Given the description of an element on the screen output the (x, y) to click on. 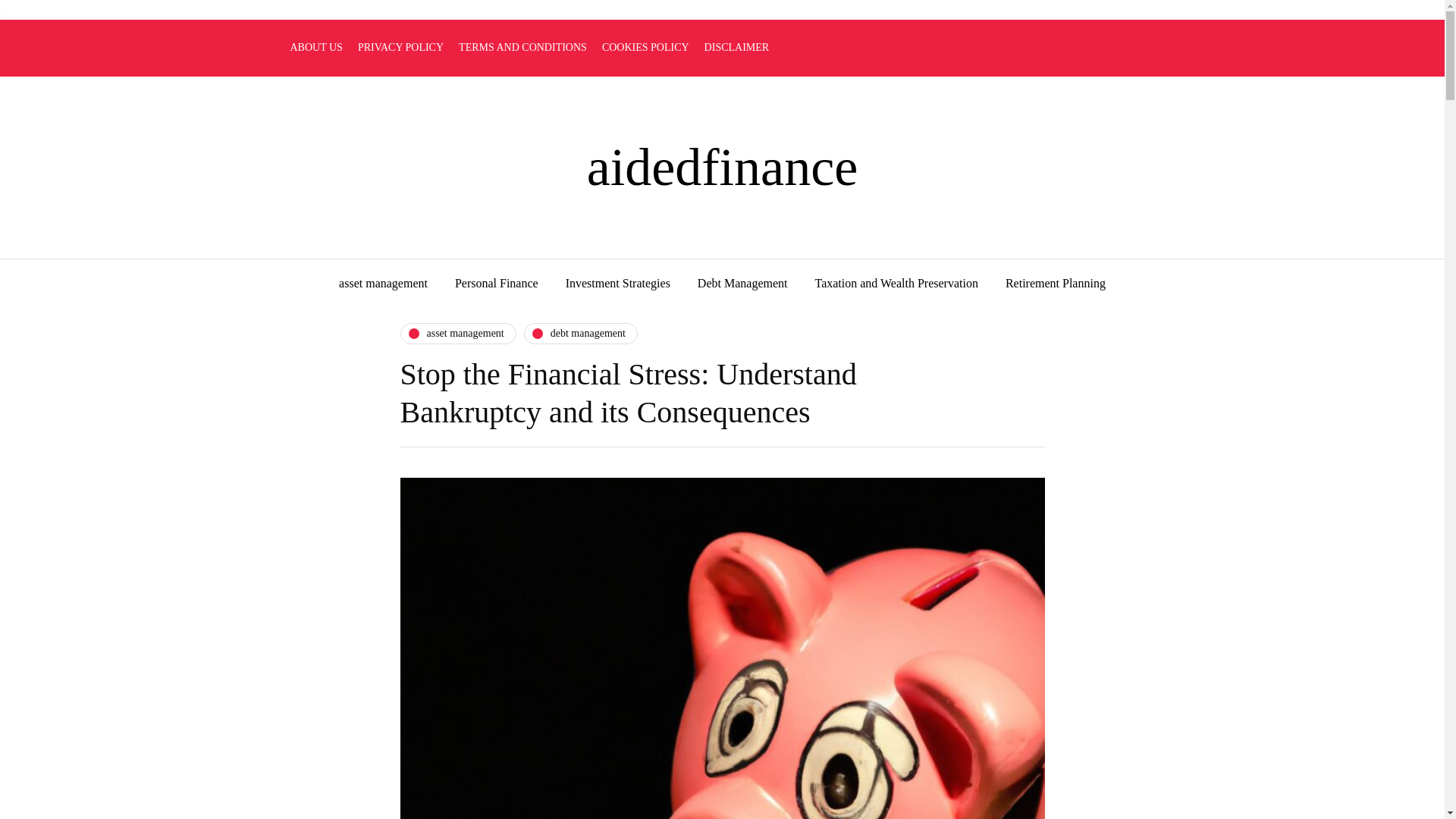
asset management (382, 283)
PRIVACY POLICY (400, 47)
asset management (458, 332)
Personal Finance (496, 283)
TERMS AND CONDITIONS (522, 47)
debt management (580, 332)
aidedfinance (722, 167)
DISCLAIMER (737, 47)
Debt Management (743, 283)
Taxation and Wealth Preservation (895, 283)
